Given the description of an element on the screen output the (x, y) to click on. 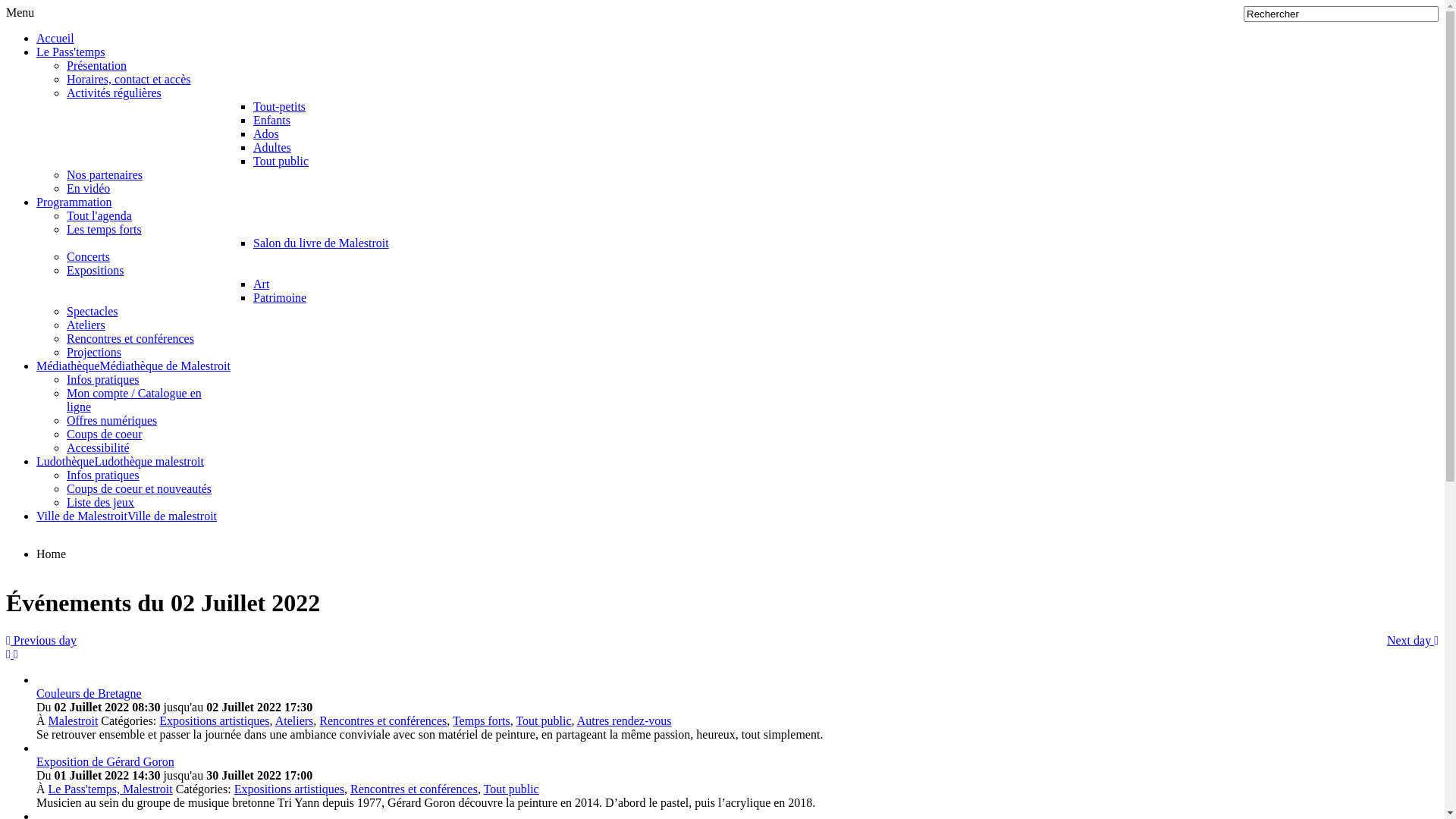
Expositions Element type: text (95, 269)
Next day Element type: text (1412, 640)
Projections Element type: text (93, 351)
Malestroit Element type: text (73, 720)
Liste des jeux Element type: text (100, 501)
Programmation Element type: text (74, 201)
Tout-petits Element type: text (279, 106)
Le Pass'temps, Malestroit Element type: text (110, 788)
Adultes Element type: text (272, 147)
Salon du livre de Malestroit Element type: text (321, 242)
Mon compte / Catalogue en ligne Element type: text (133, 399)
Art Element type: text (261, 283)
Flux RSS Element type: hover (9, 653)
Ateliers Element type: text (294, 720)
Expositions artistiques Element type: text (214, 720)
Enfants Element type: text (271, 119)
Tout public Element type: text (280, 160)
Infos pratiques Element type: text (102, 379)
Les temps forts Element type: text (103, 228)
Patrimoine Element type: text (279, 297)
Expositions artistiques Element type: text (289, 788)
Infos pratiques Element type: text (102, 474)
Temps forts Element type: text (481, 720)
Previous day Element type: text (41, 640)
Le Pass'temps Element type: text (70, 51)
Nos partenaires Element type: text (104, 174)
Accueil Element type: text (55, 37)
Tout l'agenda Element type: text (98, 215)
Tout public Element type: text (511, 788)
Flux iCal Element type: hover (15, 653)
Ados Element type: text (266, 133)
Tout public Element type: text (543, 720)
Spectacles Element type: text (92, 310)
Autres rendez-vous Element type: text (624, 720)
Ateliers Element type: text (85, 324)
Concerts Element type: text (87, 256)
Coups de coeur Element type: text (104, 433)
Couleurs de Bretagne Element type: text (88, 693)
Ville de MalestroitVille de malestroit Element type: text (126, 515)
